Given the description of an element on the screen output the (x, y) to click on. 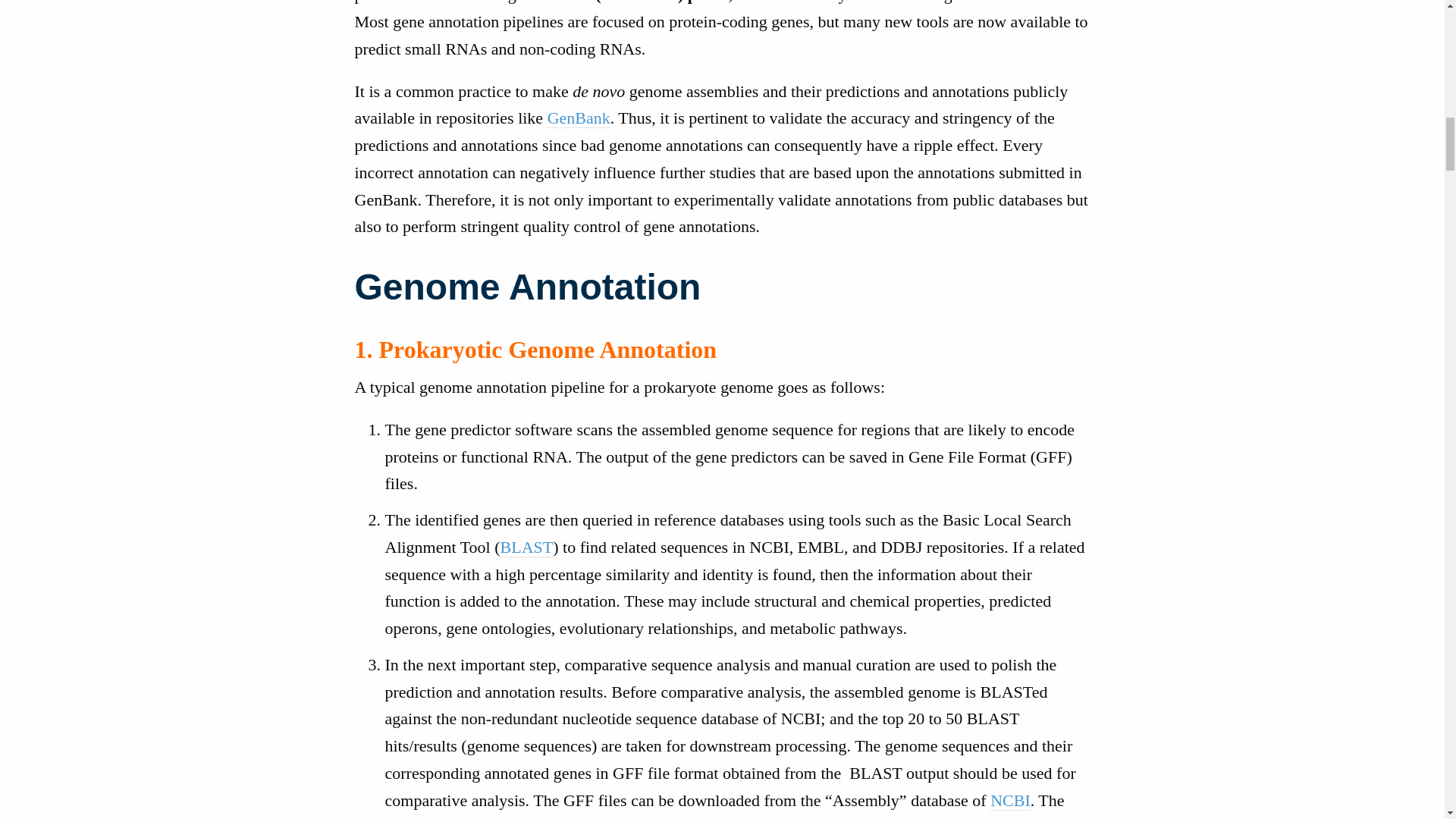
GenBank (578, 117)
BLAST (526, 547)
NCBI (1010, 800)
